Given the description of an element on the screen output the (x, y) to click on. 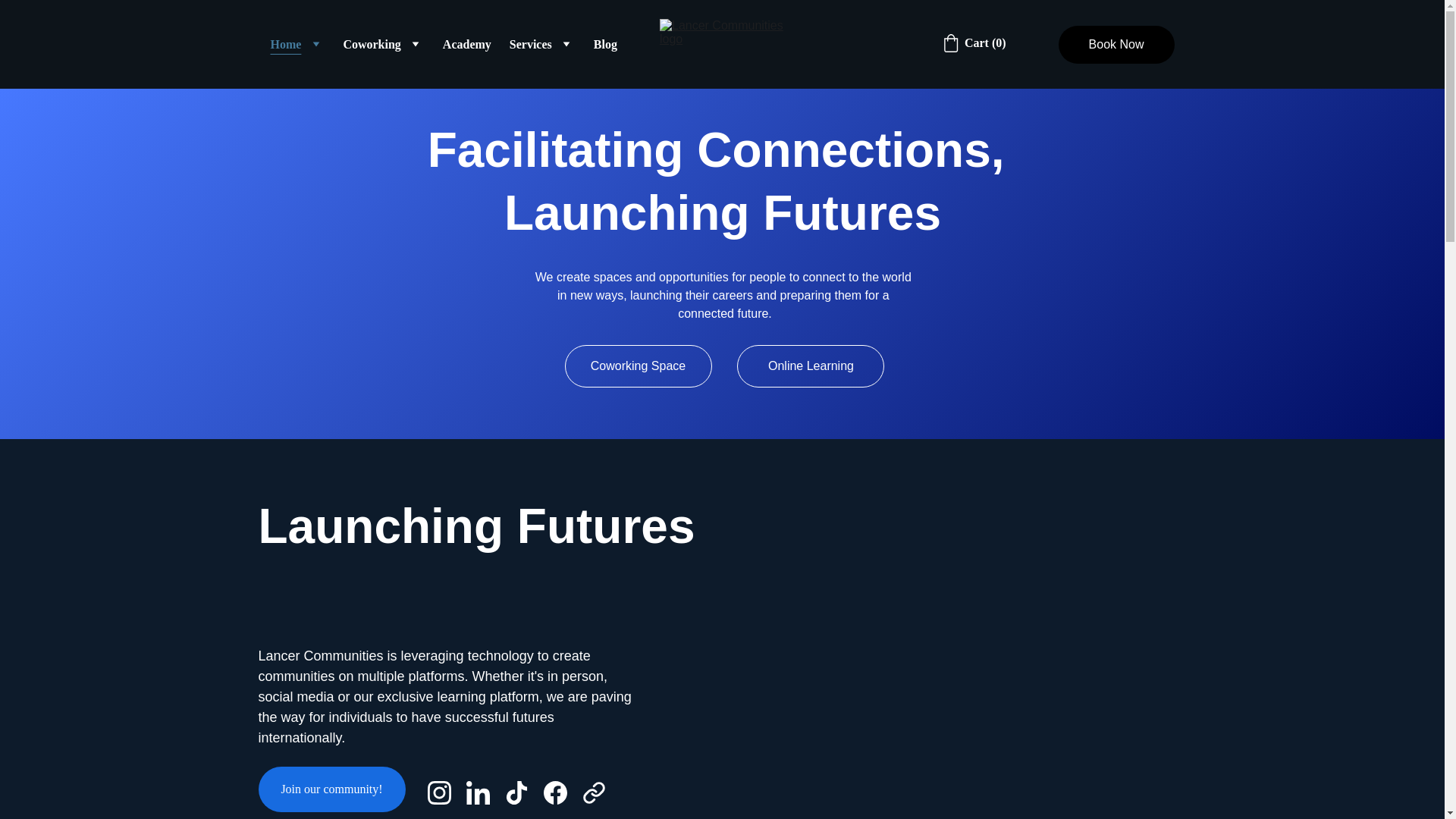
Coworking Space (637, 365)
Go to Facebook page (561, 792)
Go to  page (593, 792)
Book Now (1116, 44)
Online Learning (809, 365)
Blog (605, 44)
Coworking (371, 44)
Go to Instagram page (446, 792)
Academy (467, 44)
Go to Linkedin-in page (484, 792)
